Given the description of an element on the screen output the (x, y) to click on. 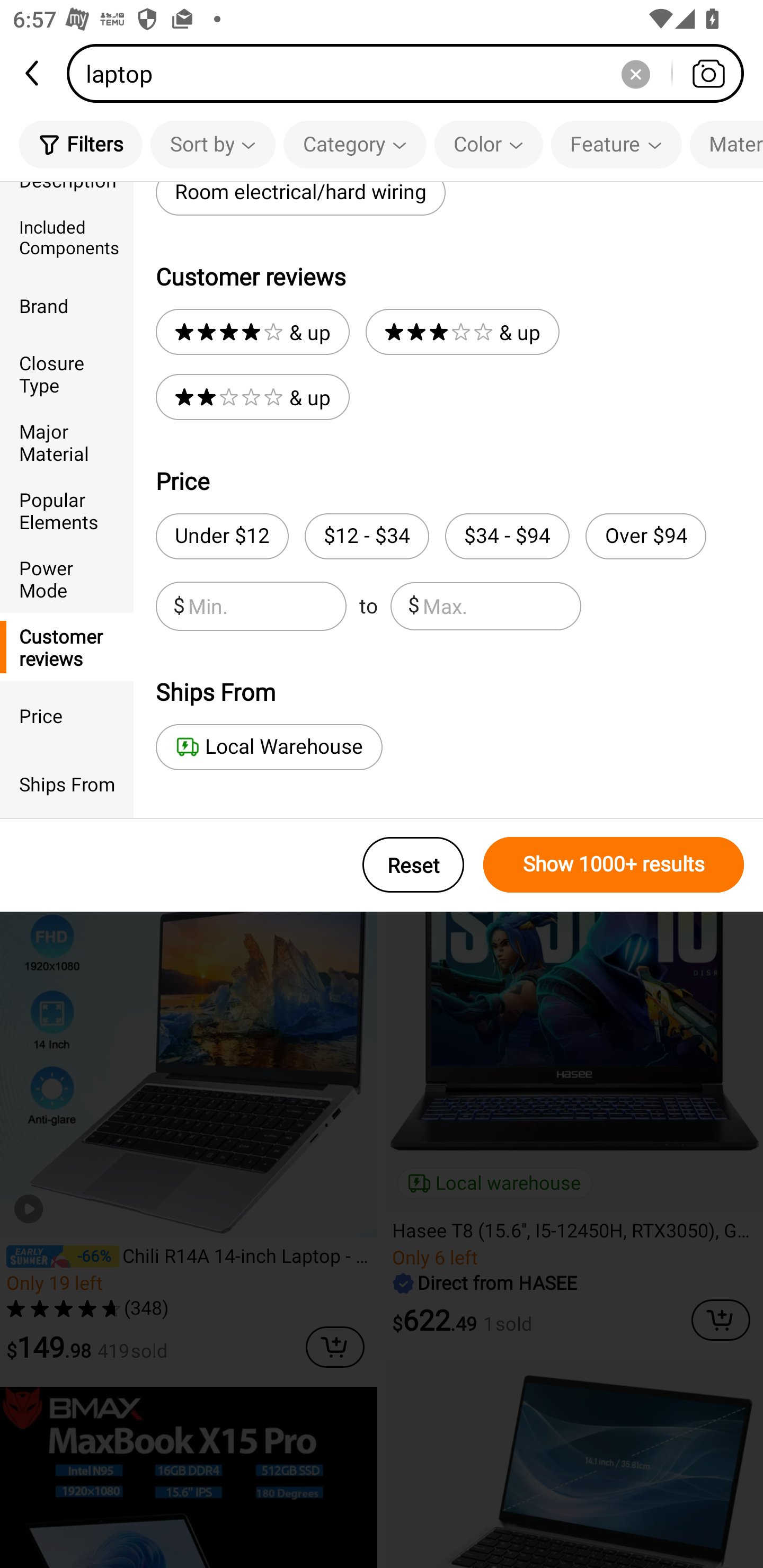
back (33, 72)
laptop (411, 73)
Delete search history (635, 73)
Search by photo (708, 73)
Filters (80, 143)
Sort by (212, 143)
Category (354, 143)
Color (488, 143)
Feature (616, 143)
Material (726, 143)
Room electrical/hard wiring (300, 198)
Included Components (66, 236)
Brand (66, 305)
& up (252, 331)
& up (462, 331)
Closure Type (66, 373)
& up (252, 397)
Major Material (66, 441)
Popular Elements (66, 510)
Under $12 (221, 535)
$12 - $34 (366, 535)
$34 - $94 (506, 535)
Over $94 (645, 535)
Power Mode (66, 578)
$ Min. to $ Max. (368, 605)
Customer reviews (66, 646)
Price (66, 714)
Local Warehouse (268, 746)
Ships From (66, 783)
Reset (412, 864)
Show 1000+ results (612, 864)
